Given the description of an element on the screen output the (x, y) to click on. 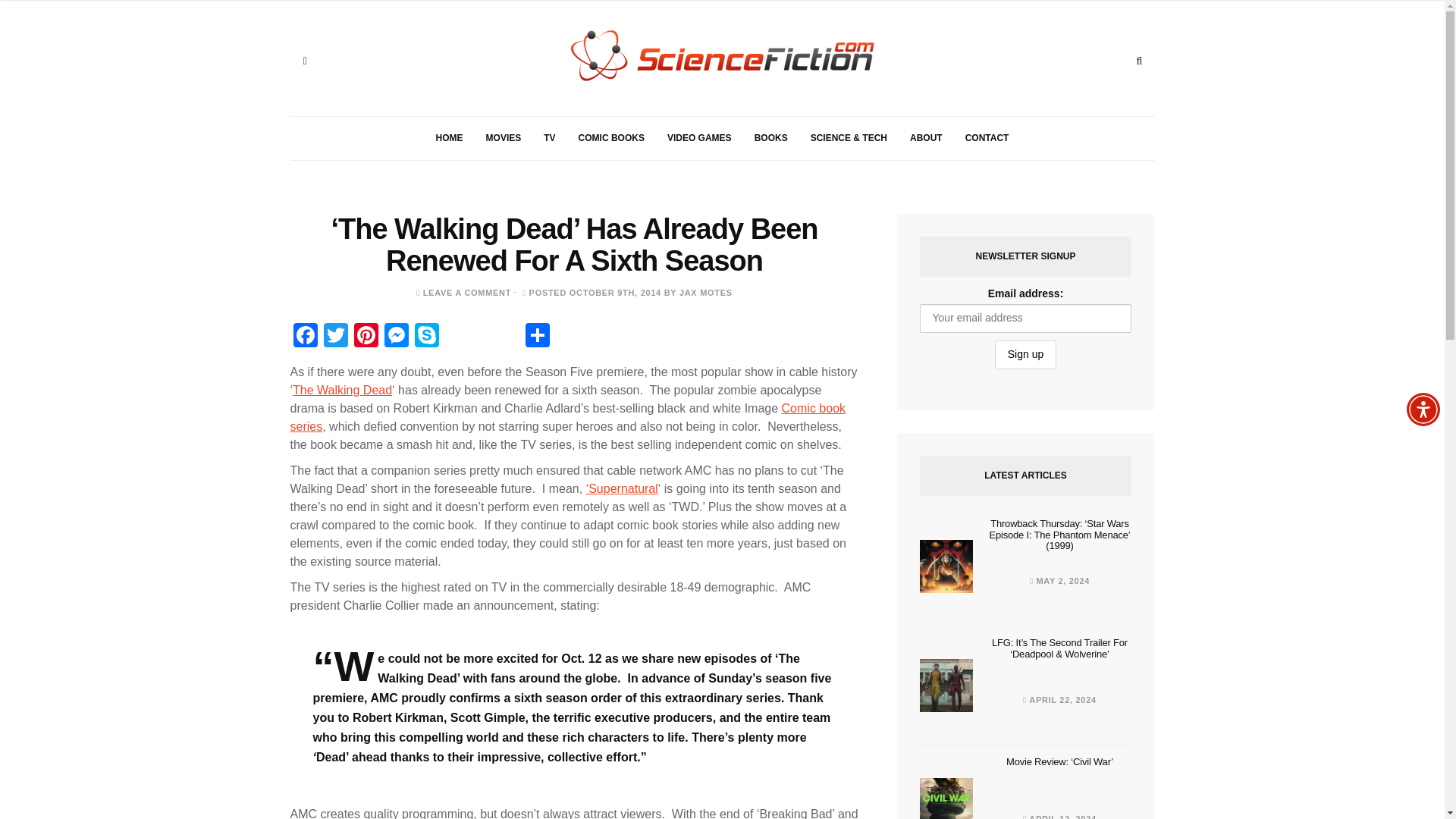
HOME (449, 138)
Twitter (335, 336)
MOVIES (503, 138)
ABOUT (925, 138)
Search (1139, 60)
Sign up (1025, 354)
COMIC BOOKS (611, 138)
BOOKS (770, 138)
Facebook (304, 336)
TV (549, 138)
VIDEO GAMES (699, 138)
CONTACT (986, 138)
Posts by Jax Motes (705, 292)
Accessibility Menu (1422, 409)
